Given the description of an element on the screen output the (x, y) to click on. 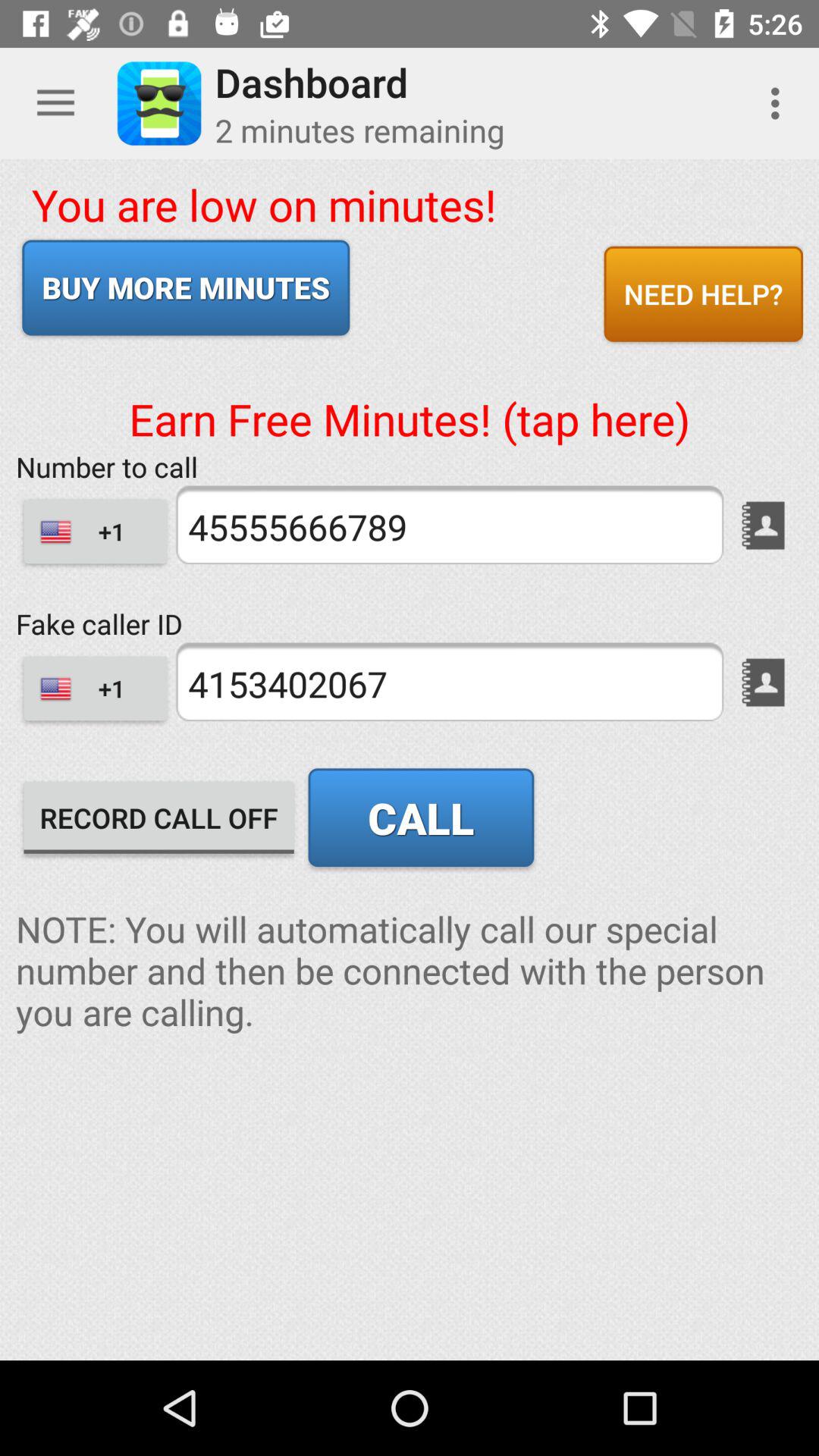
click record call off (158, 817)
